Given the description of an element on the screen output the (x, y) to click on. 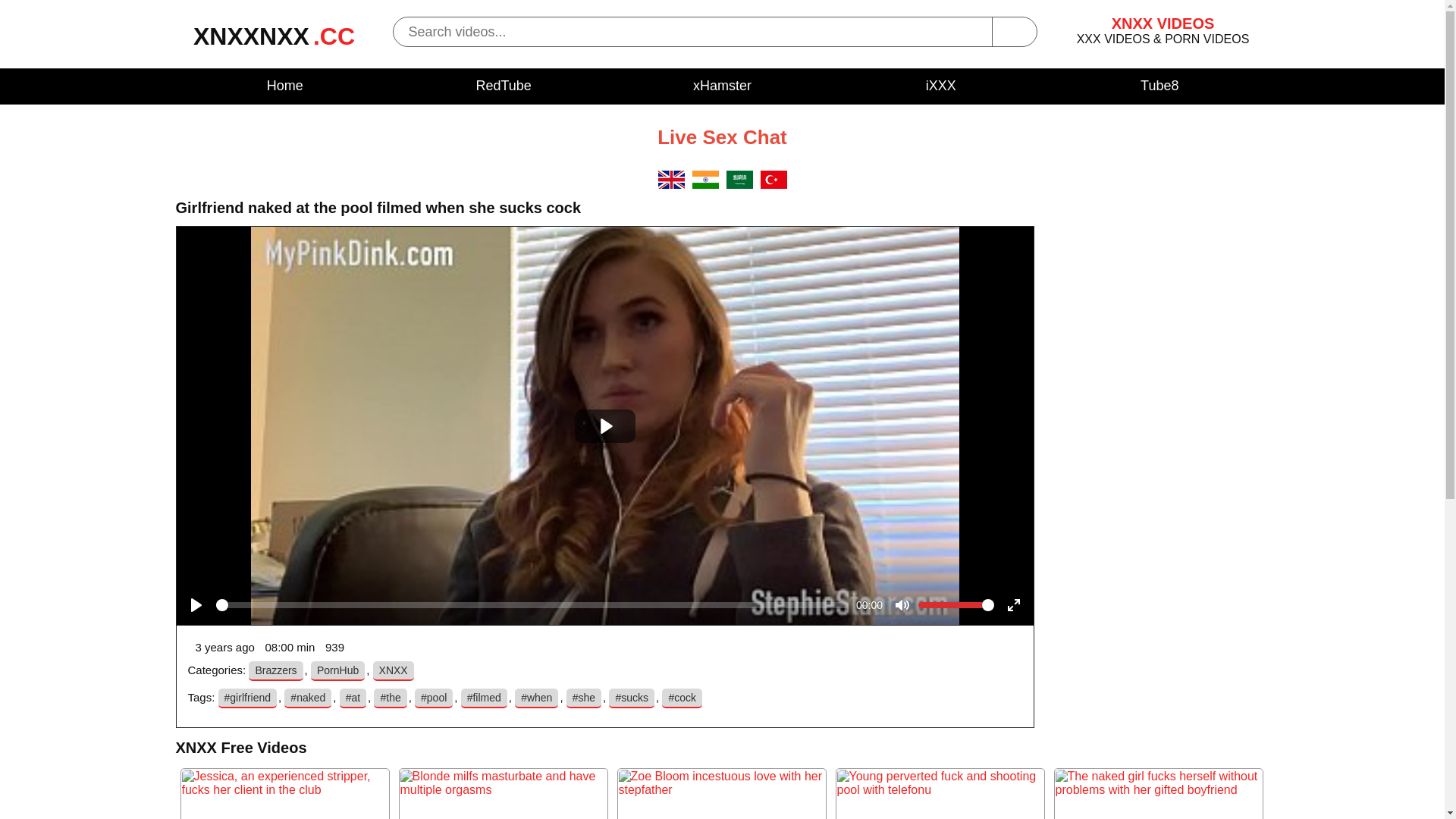
EN Element type: hover (671, 184)
iXXX Element type: text (940, 85)
#the Element type: text (389, 698)
#filmed Element type: text (484, 698)
TR Element type: hover (772, 184)
SA Element type: hover (739, 184)
xHamster Element type: text (721, 85)
#pool Element type: text (433, 698)
XNXXNXX.CC Element type: text (274, 41)
Brazzers Element type: text (275, 670)
PornHub Element type: text (337, 670)
#she Element type: text (583, 698)
#girlfriend Element type: text (247, 698)
#naked Element type: text (307, 698)
#cock Element type: text (682, 698)
Live Sex Chat Element type: text (722, 136)
Tube8 Element type: text (1159, 85)
#when Element type: text (536, 698)
#at Element type: text (352, 698)
#sucks Element type: text (631, 698)
XNXX Element type: text (393, 670)
IN Element type: hover (704, 184)
RedTube Element type: text (503, 85)
Home Element type: text (284, 85)
